Given the description of an element on the screen output the (x, y) to click on. 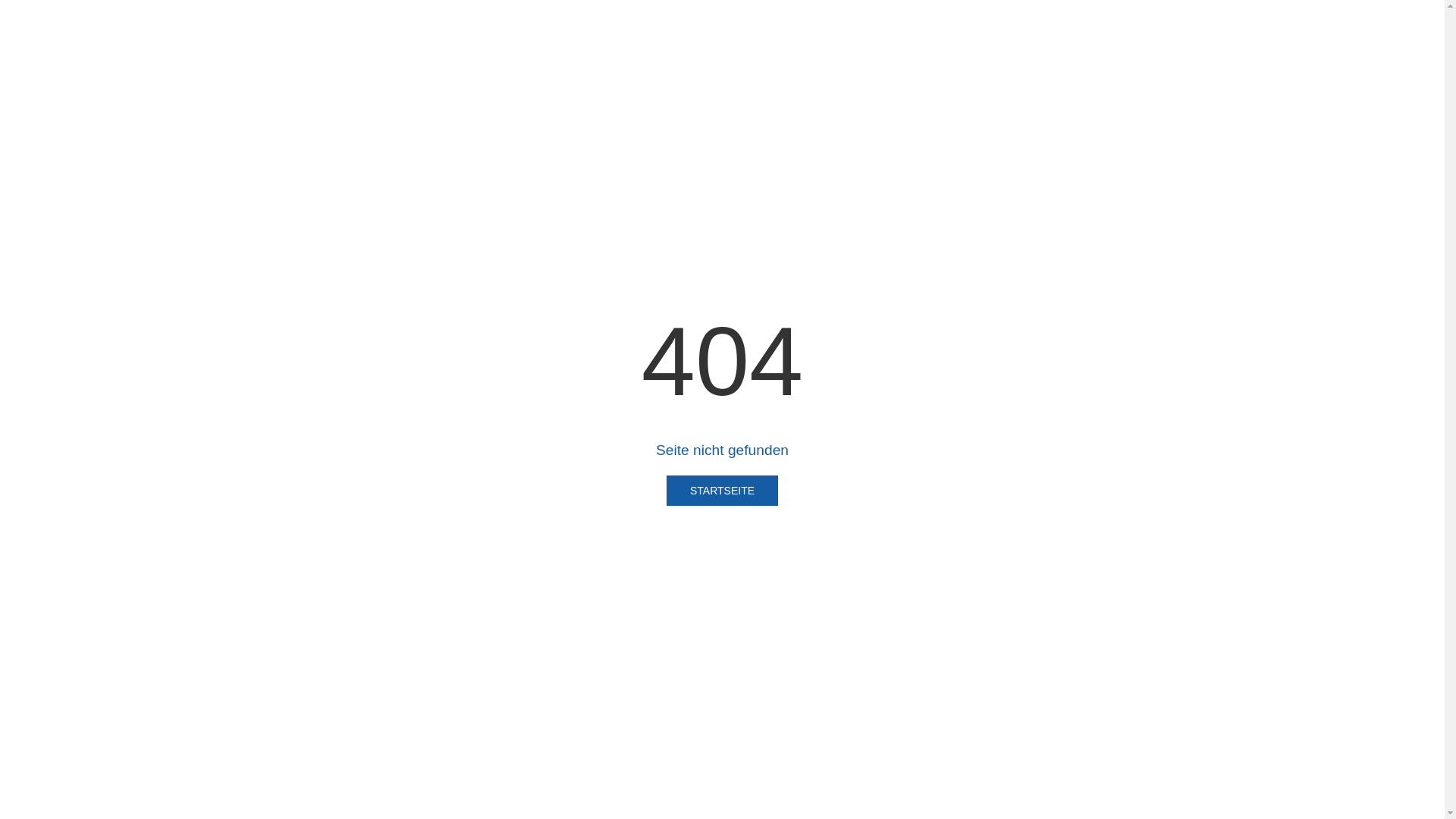
STARTSEITE Element type: text (722, 490)
